Given the description of an element on the screen output the (x, y) to click on. 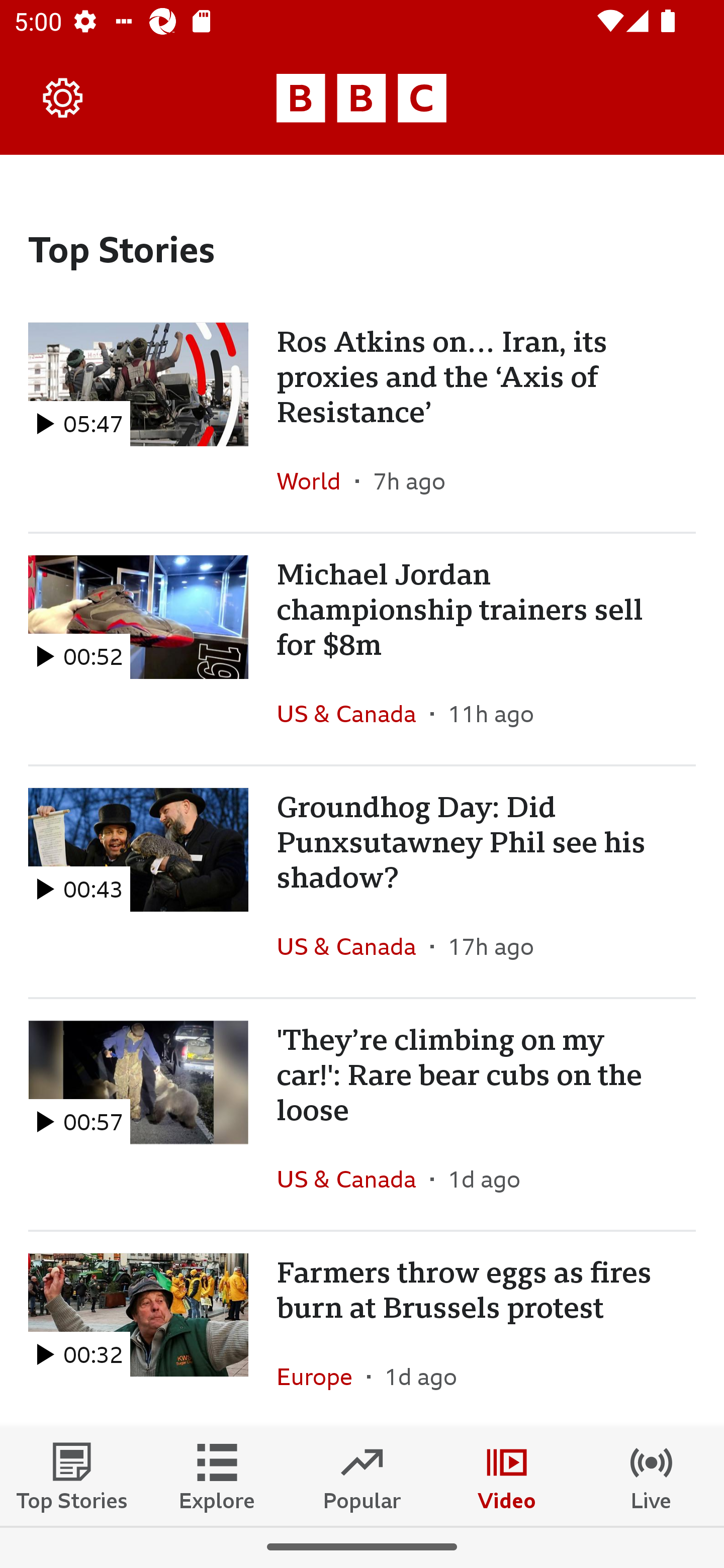
Settings (63, 97)
World In the section World (315, 480)
US & Canada In the section US & Canada (353, 714)
US & Canada In the section US & Canada (353, 946)
US & Canada In the section US & Canada (353, 1178)
Europe In the section Europe (321, 1376)
Top Stories (72, 1475)
Explore (216, 1475)
Popular (361, 1475)
Live (651, 1475)
